Given the description of an element on the screen output the (x, y) to click on. 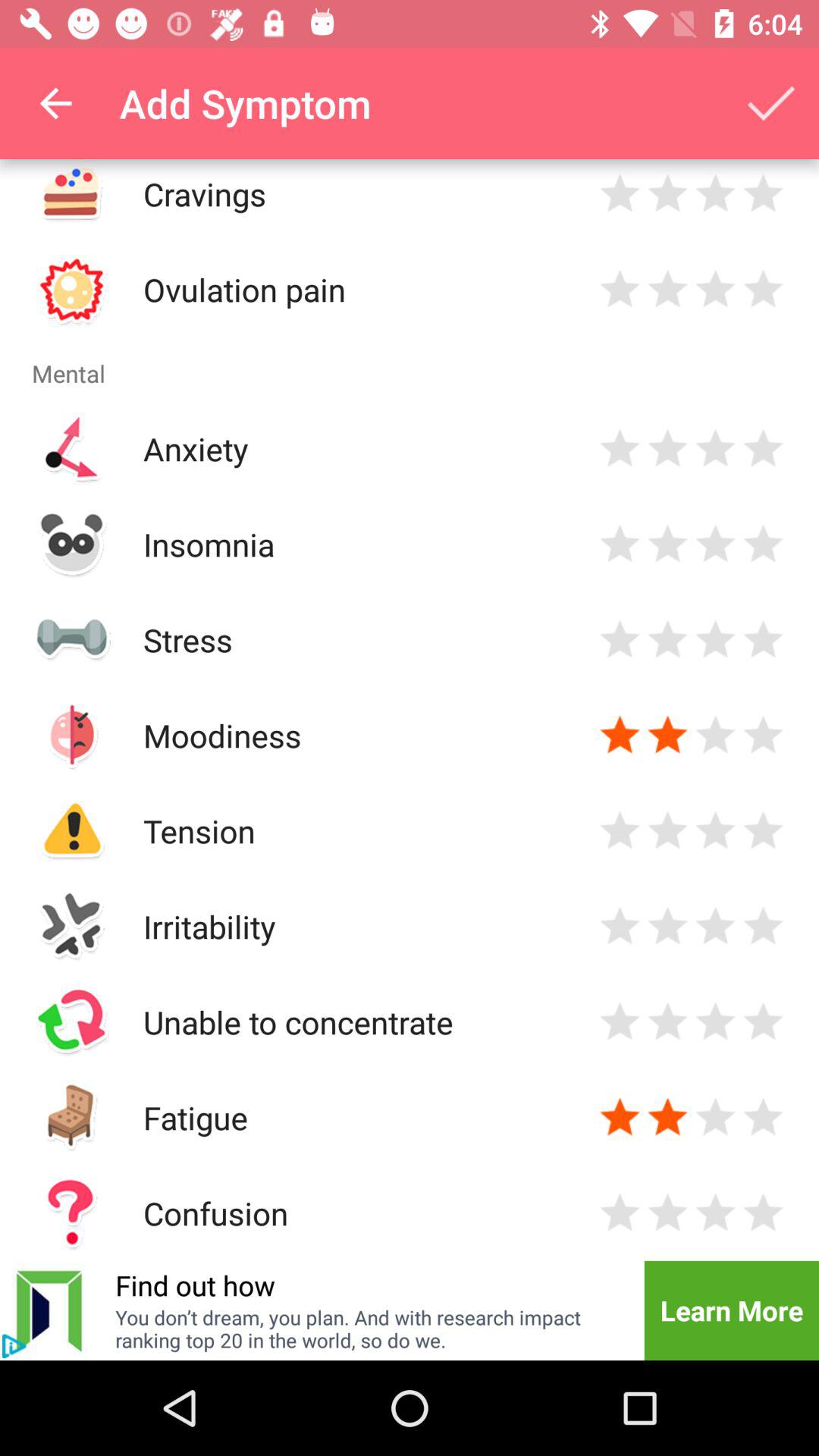
click the star (619, 830)
